Given the description of an element on the screen output the (x, y) to click on. 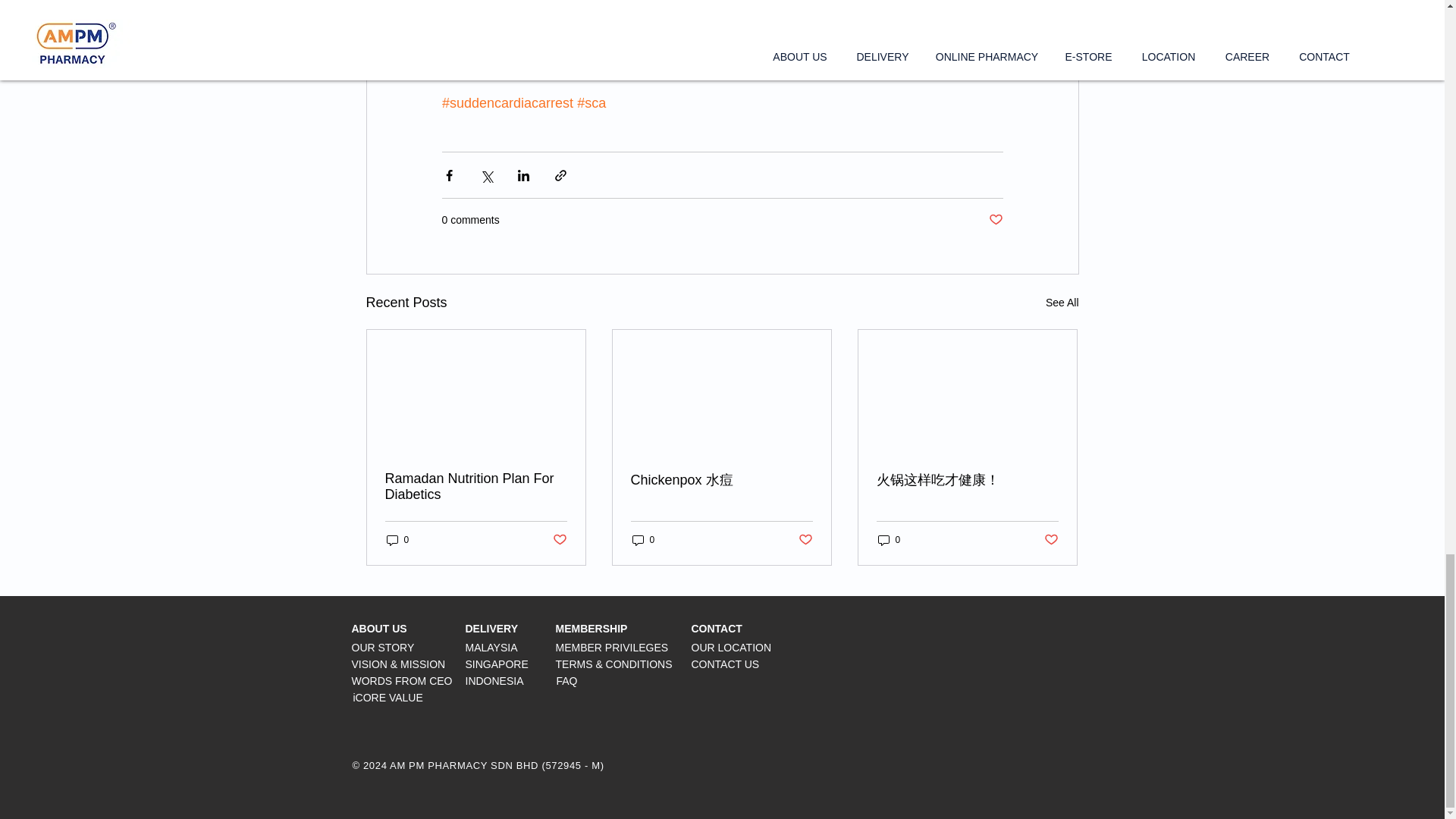
Post not marked as liked (804, 539)
0 (397, 540)
See All (1061, 302)
Post not marked as liked (995, 220)
Post not marked as liked (1050, 539)
0 (889, 540)
Post not marked as liked (558, 539)
OUR STORY (383, 647)
0 (643, 540)
Ramadan Nutrition Plan For Diabetics (476, 486)
